Given the description of an element on the screen output the (x, y) to click on. 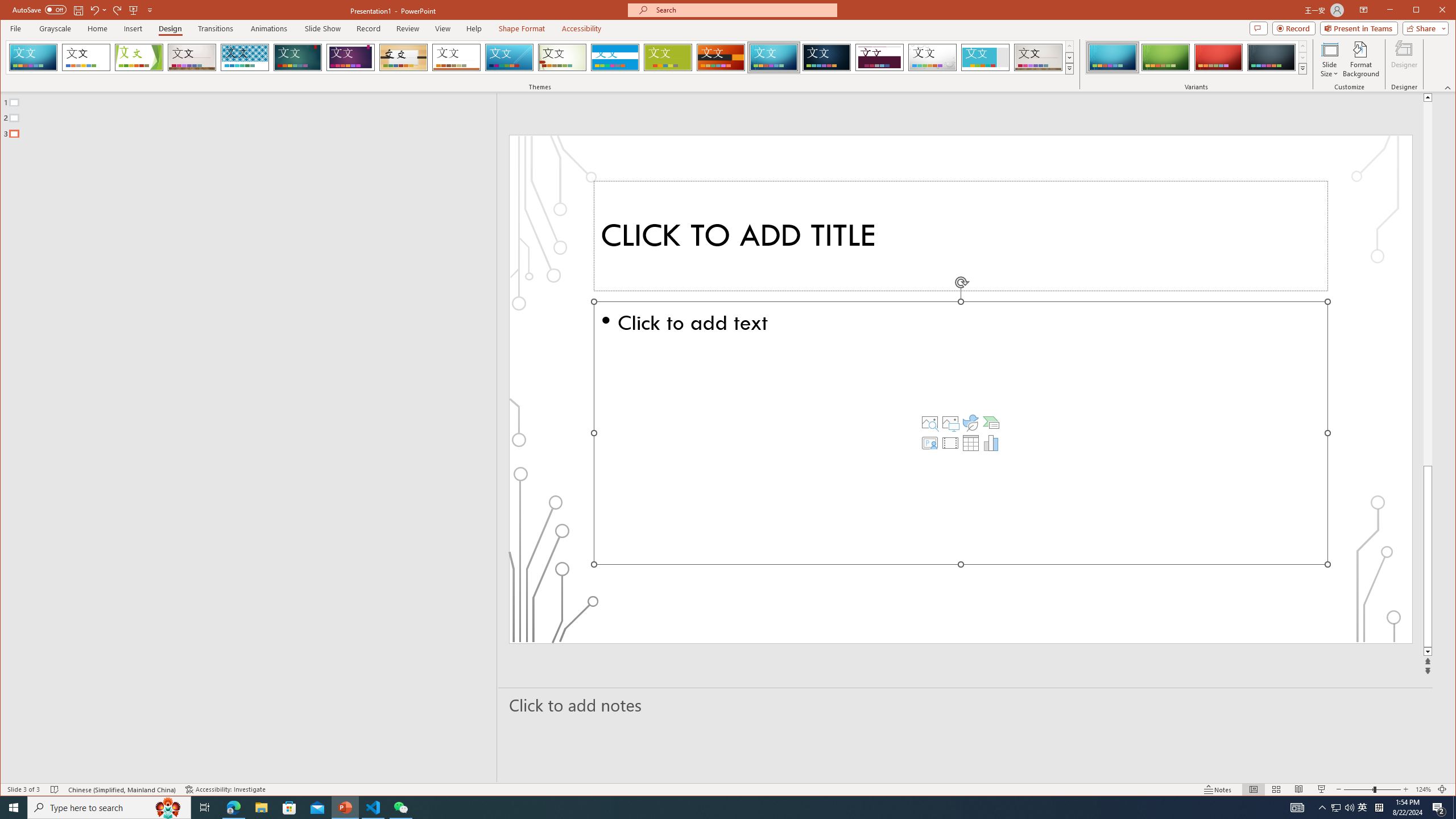
Droplet (932, 57)
Integral (244, 57)
Variants (1302, 68)
Slice (509, 57)
Organic (403, 57)
